Given the description of an element on the screen output the (x, y) to click on. 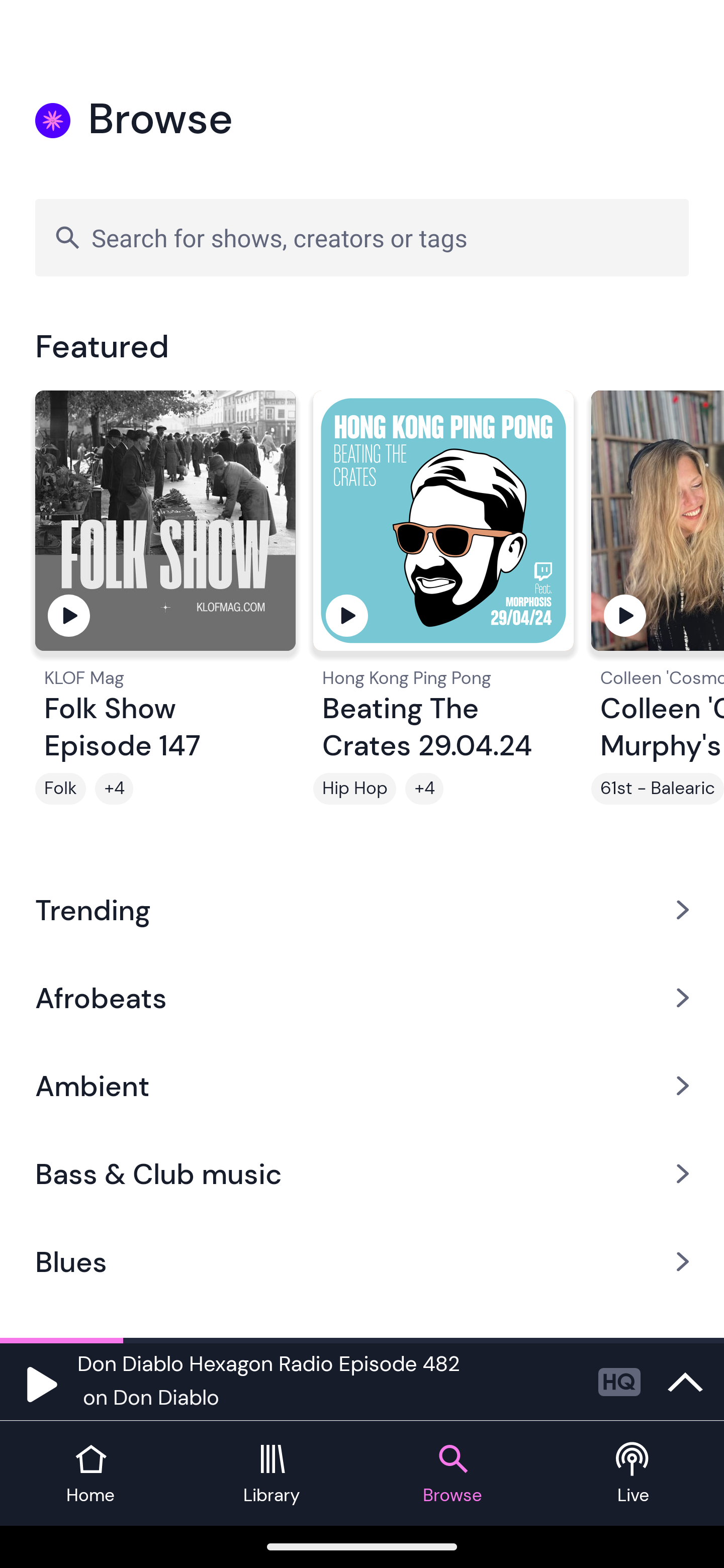
Search for shows, creators or tags (361, 237)
Folk (60, 788)
Hip Hop (354, 788)
61st - Balearic (657, 788)
Trending (361, 909)
Afrobeats (361, 997)
Ambient (361, 1085)
Bass & Club music (361, 1174)
Blues (361, 1262)
Home tab Home (90, 1473)
Library tab Library (271, 1473)
Browse tab Browse (452, 1473)
Live tab Live (633, 1473)
